Given the description of an element on the screen output the (x, y) to click on. 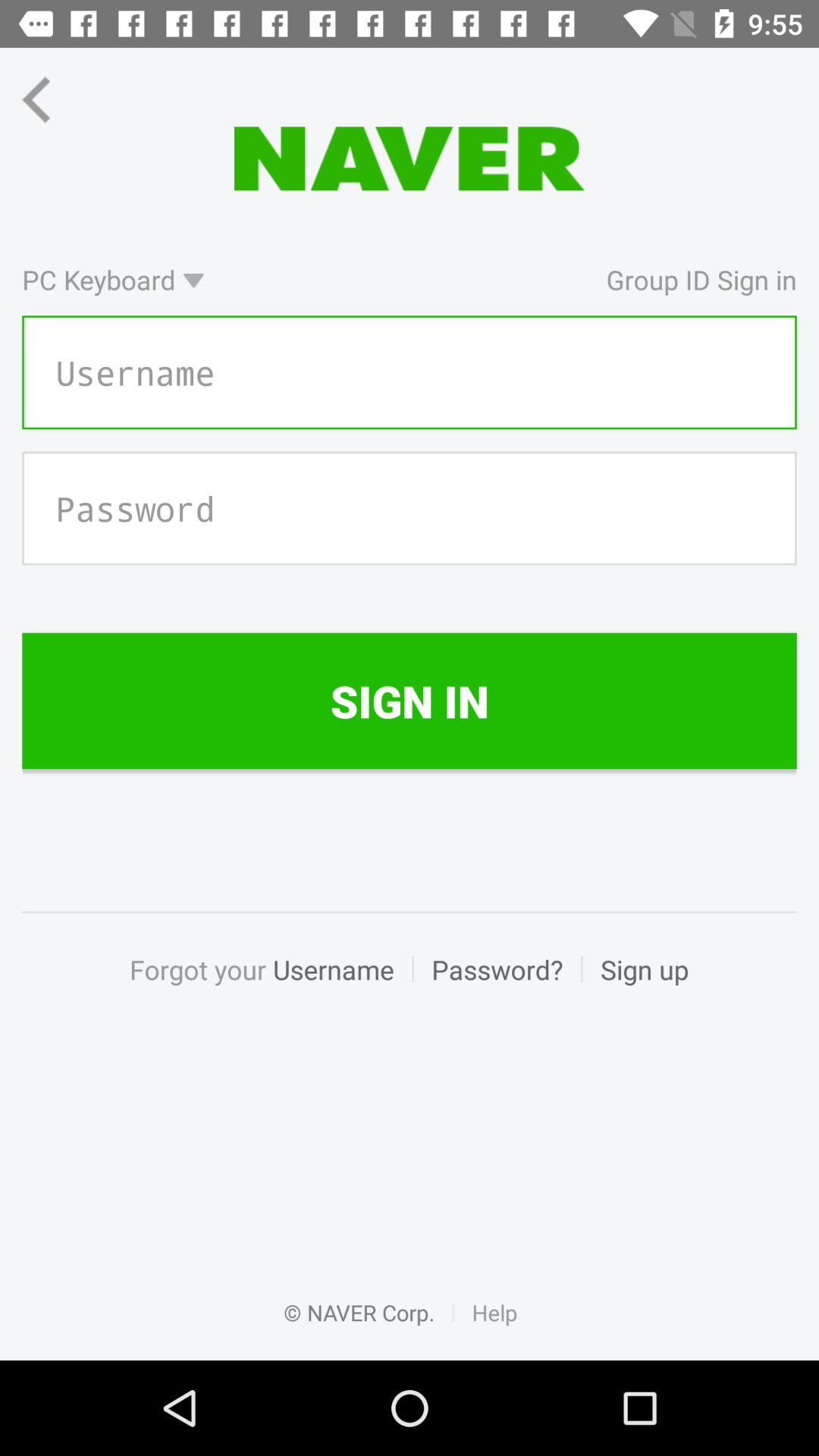
launch the forgot your username at the bottom left corner (270, 985)
